Given the description of an element on the screen output the (x, y) to click on. 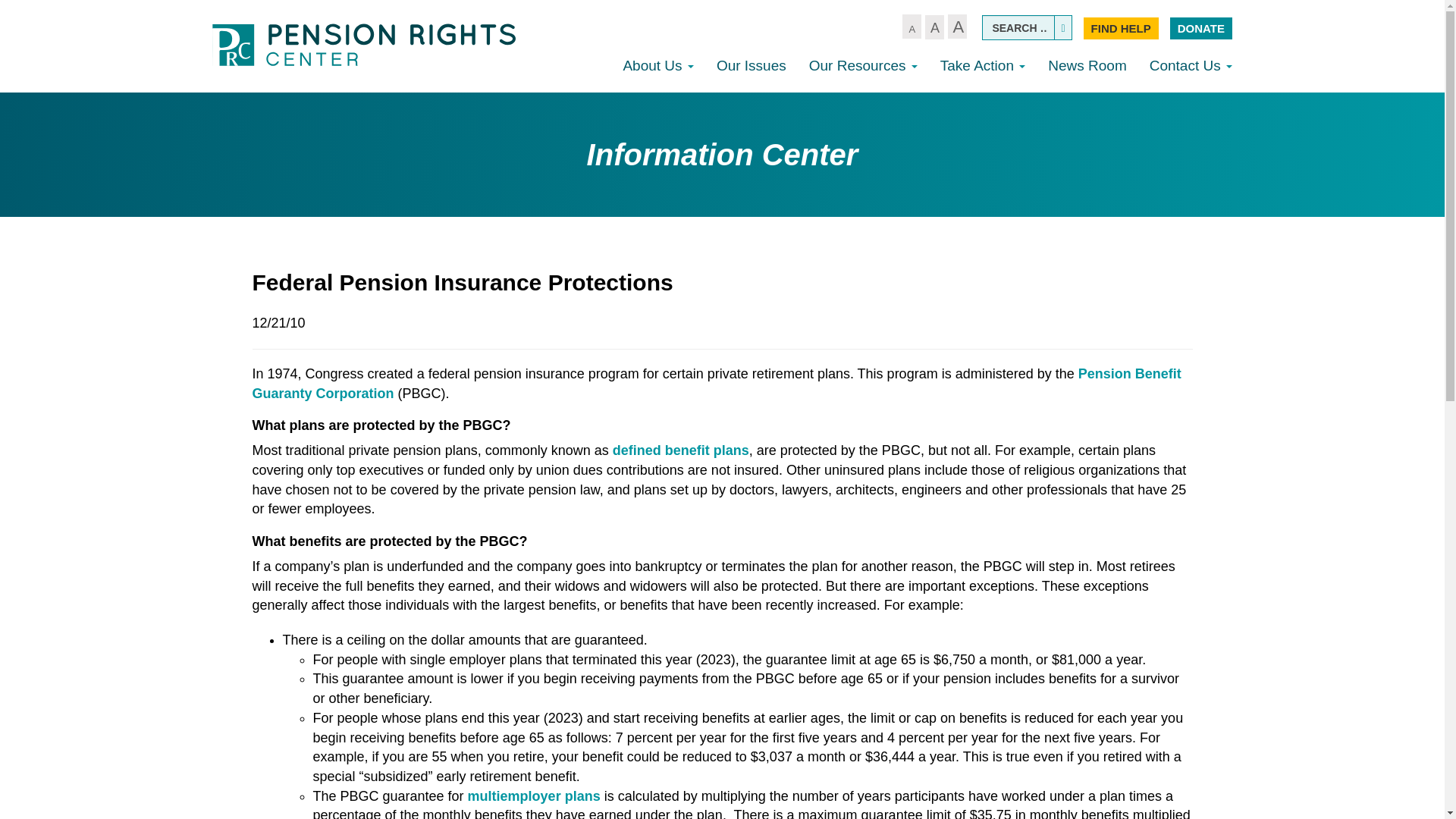
Pension Benefit Guaranty Corporation (715, 383)
Our Resources (862, 65)
Contact Us (1190, 65)
FIND HELP (1120, 28)
News Room (1086, 65)
Our Issues (750, 65)
Take Action (982, 65)
multiemployer plans (533, 795)
About Us (657, 65)
DONATE (1200, 28)
defined benefit plans (680, 450)
